Given the description of an element on the screen output the (x, y) to click on. 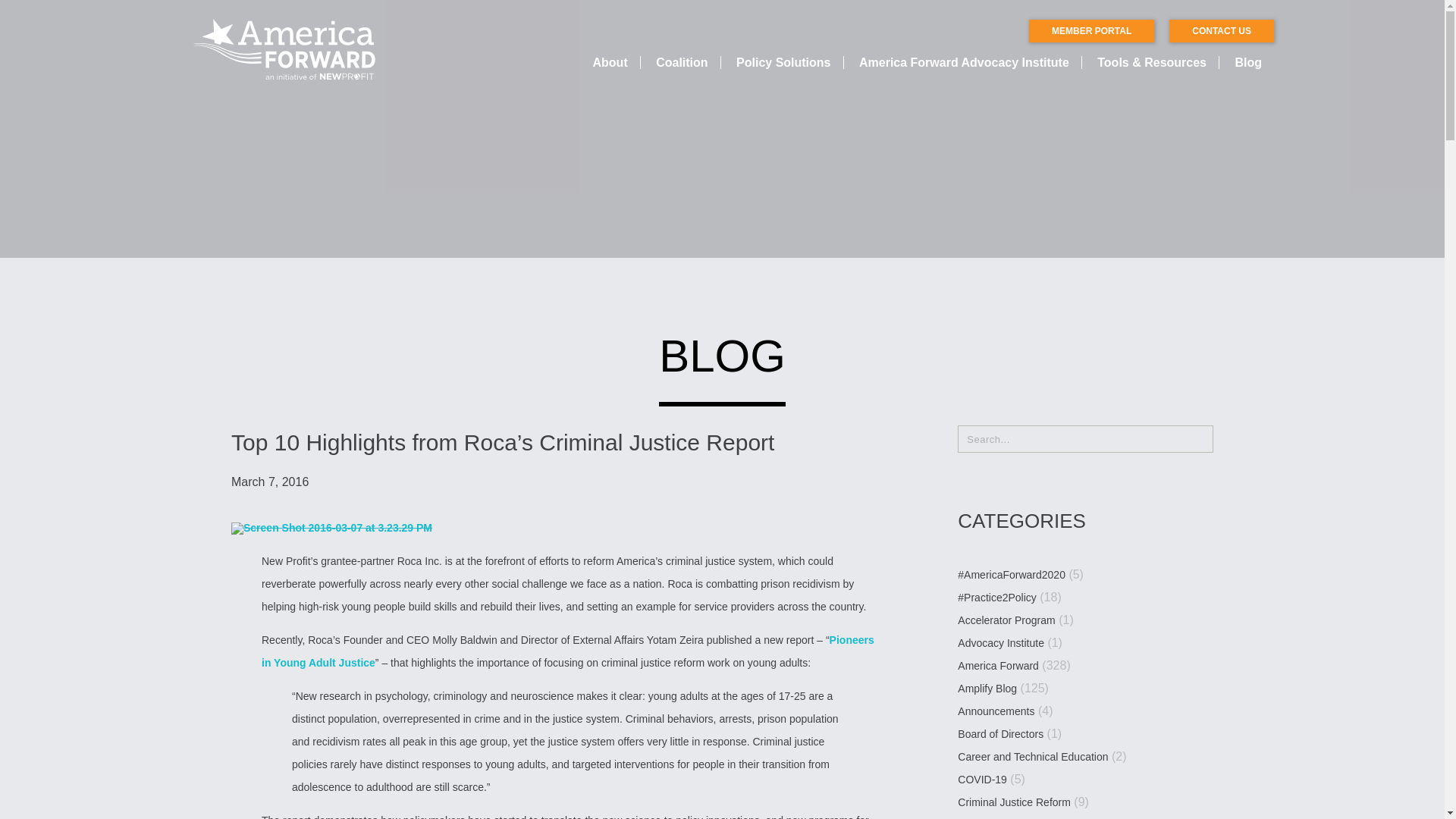
Blog (1248, 62)
Coalition (681, 62)
Amplify Blog (987, 688)
CONTACT US (1221, 30)
Advocacy Institute (1000, 643)
About (610, 62)
America Forward Advocacy Institute (964, 62)
Policy Solutions (783, 62)
America Forward (998, 666)
MEMBER PORTAL (1091, 30)
